Given the description of an element on the screen output the (x, y) to click on. 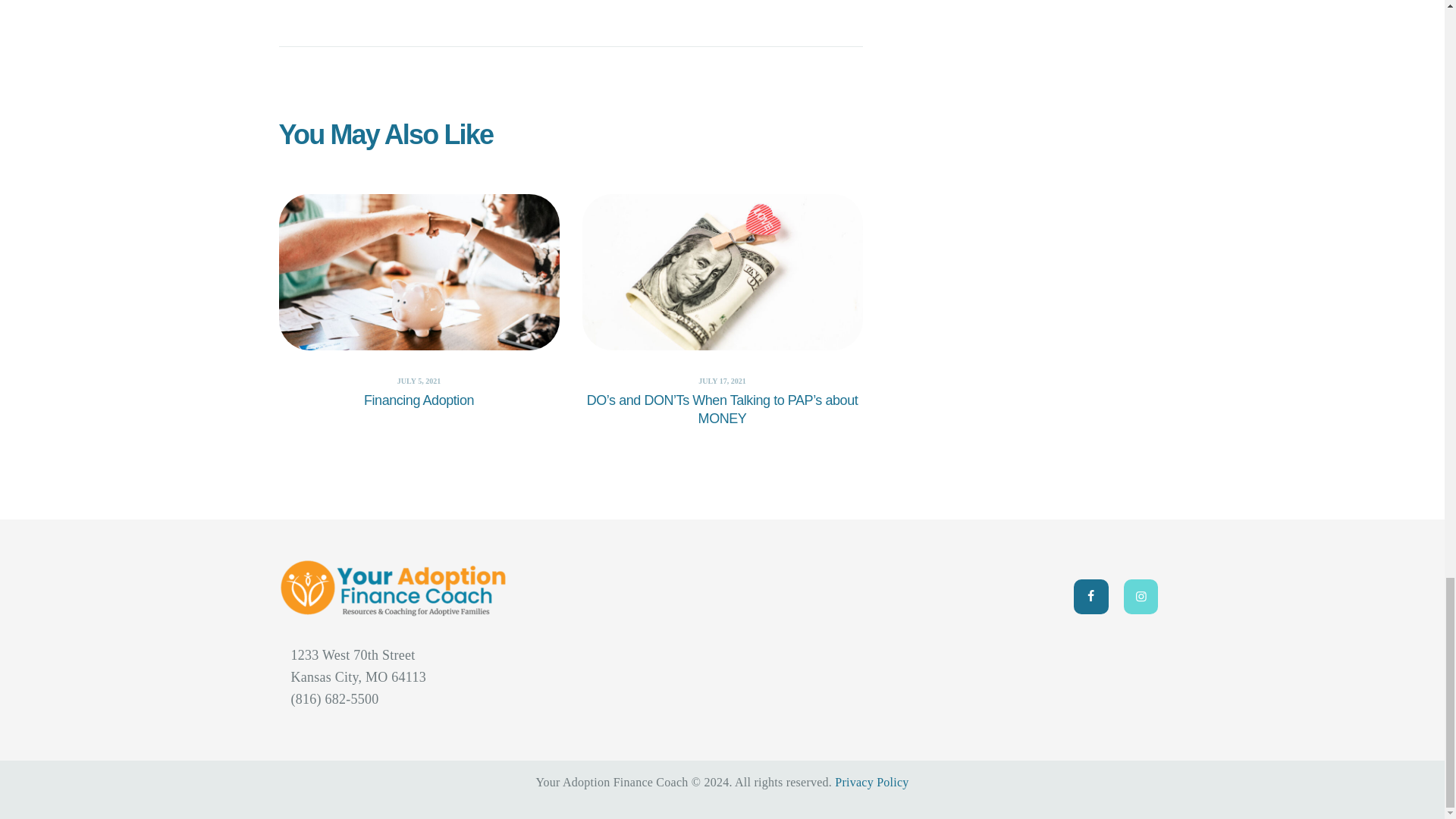
YAFC-Logo (392, 588)
JULY 5, 2021 (419, 380)
Financing Adoption 2 (419, 272)
Financing Adoption (419, 401)
